Given the description of an element on the screen output the (x, y) to click on. 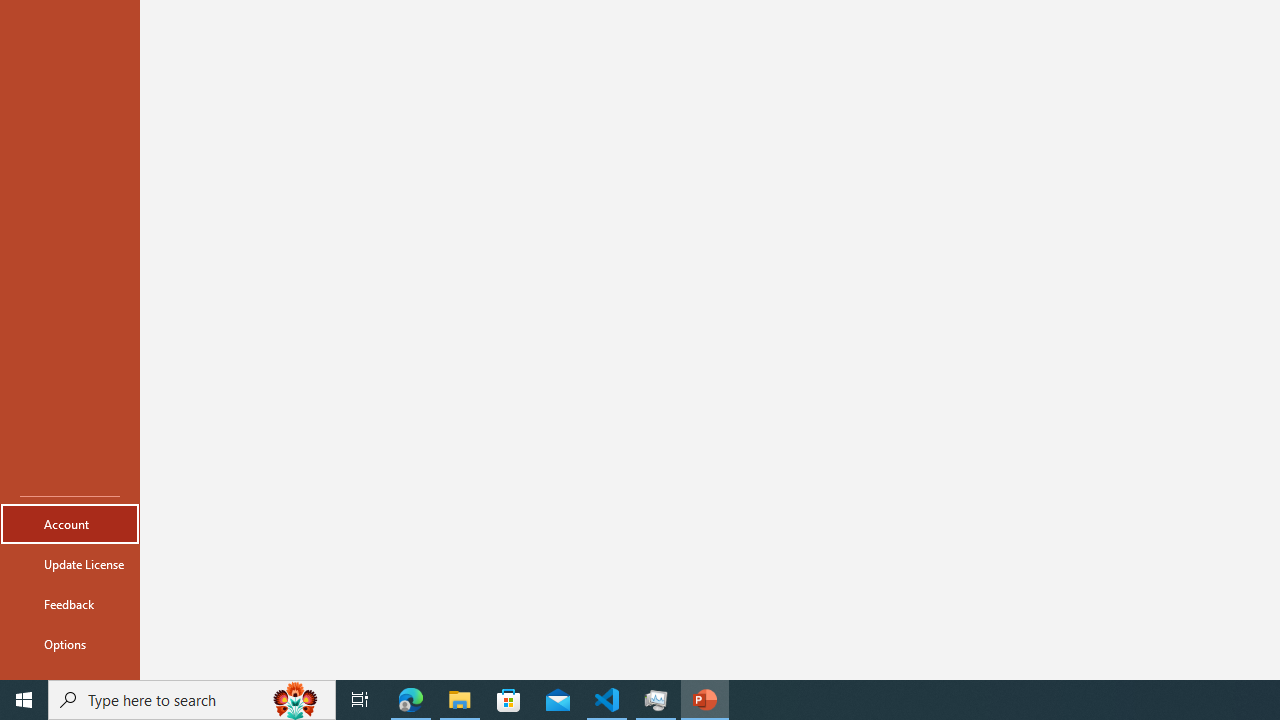
Account (69, 523)
Feedback (69, 603)
Update License (69, 563)
Options (69, 643)
